Given the description of an element on the screen output the (x, y) to click on. 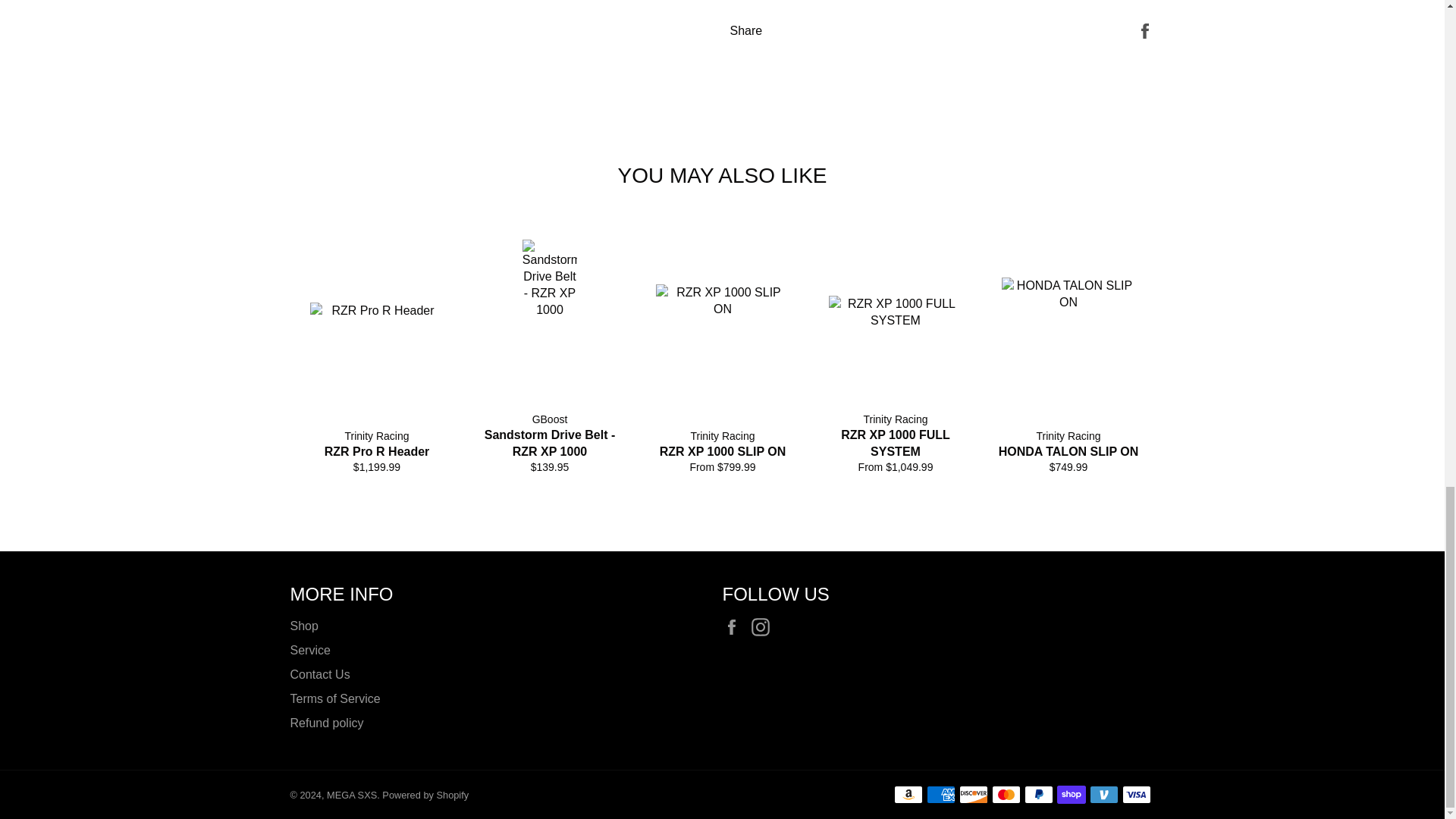
MEGA SXS on Facebook (735, 627)
MEGA SXS on Instagram (764, 627)
Share on Facebook (1144, 29)
